Given the description of an element on the screen output the (x, y) to click on. 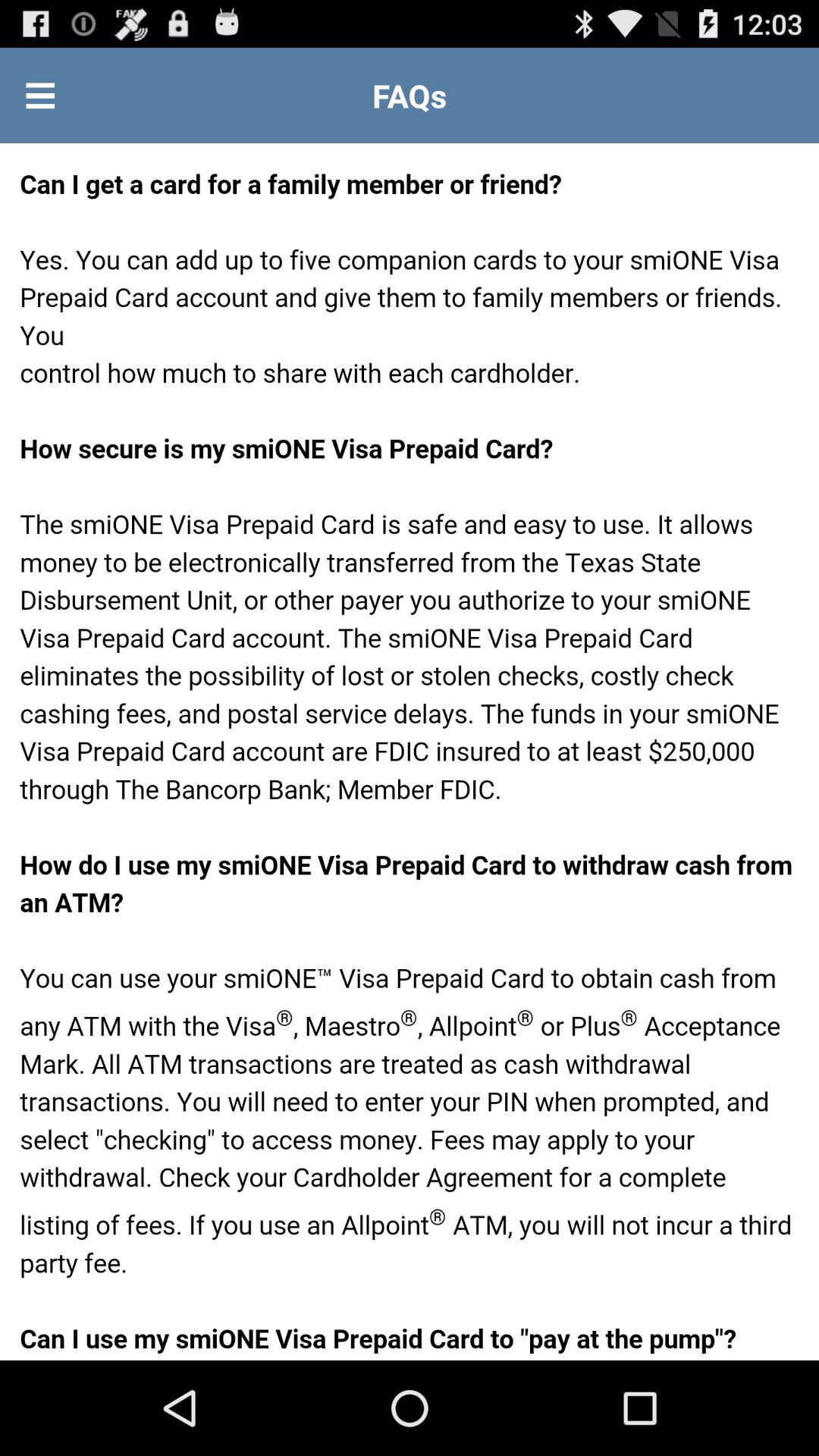
display options (39, 95)
